Given the description of an element on the screen output the (x, y) to click on. 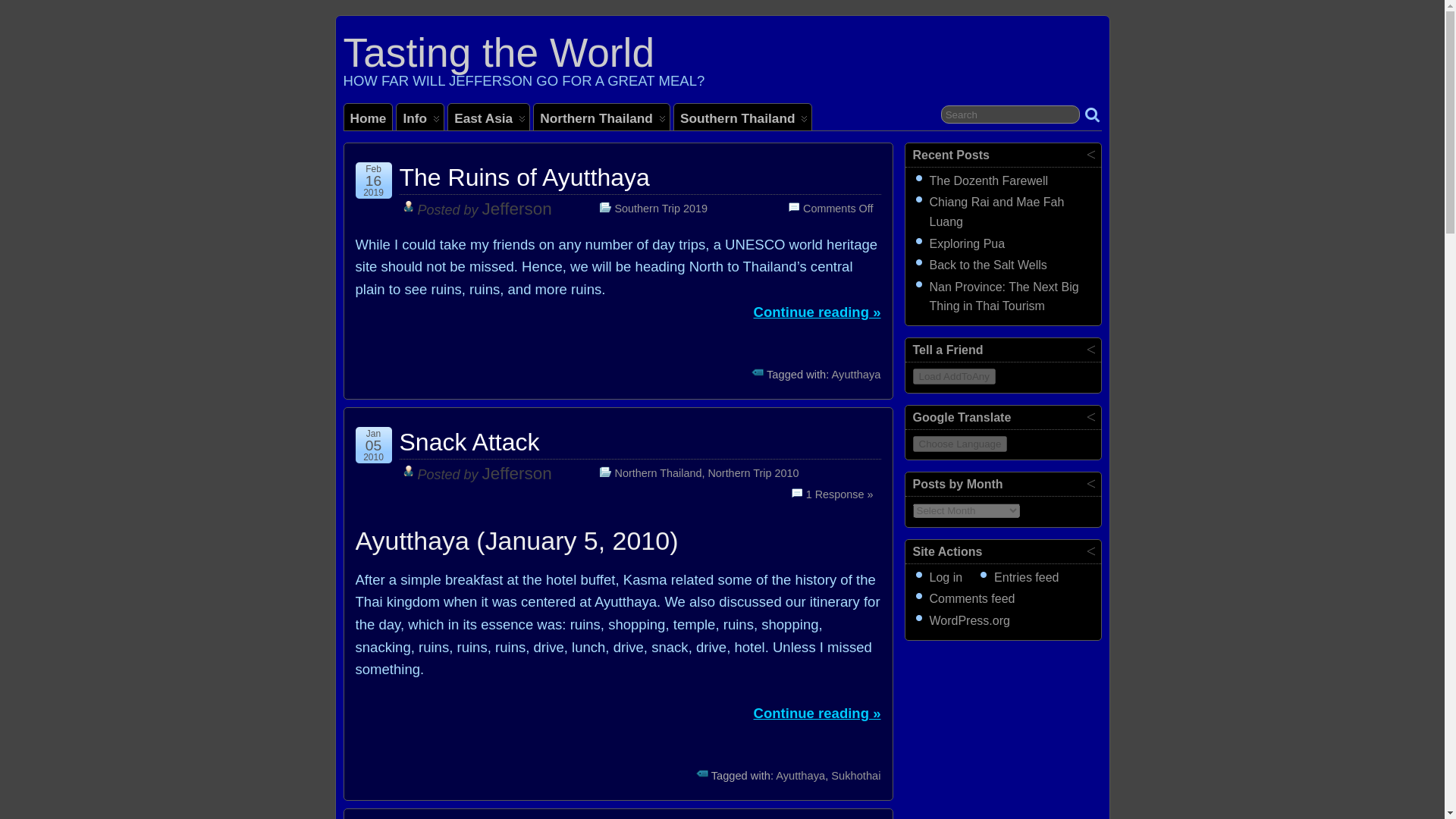
Home (368, 117)
click-down and drag to move this box (1002, 155)
click to close this box (1090, 153)
 Northern Thailand (601, 117)
Northern Trip 2010 (752, 472)
The Ruins of Ayutthaya (523, 176)
Snack Attack (468, 441)
Jefferson (516, 473)
 Info (420, 117)
Sukhothai (855, 775)
